Given the description of an element on the screen output the (x, y) to click on. 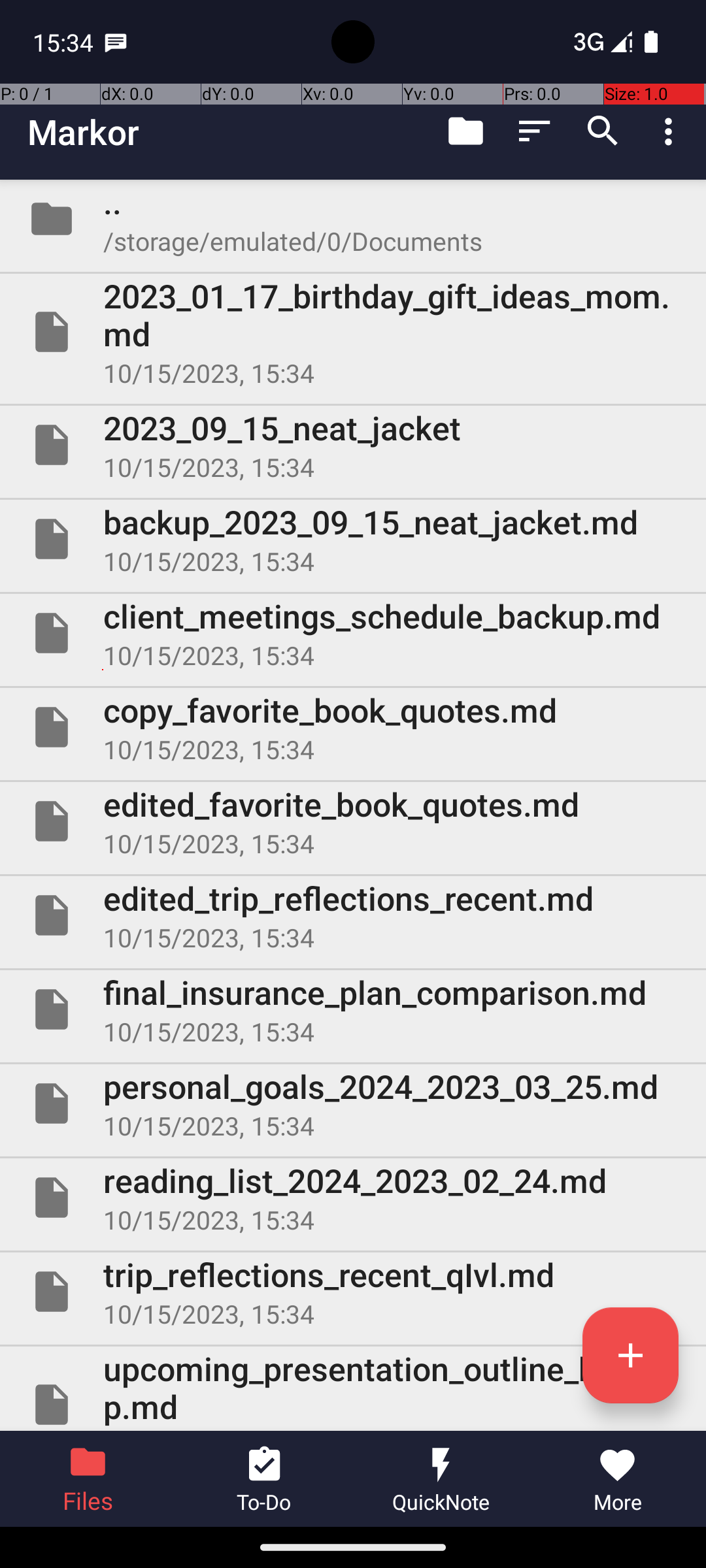
File 2023_01_17_birthday_gift_ideas_mom.md  Element type: android.widget.LinearLayout (353, 331)
File 2023_09_15_neat_jacket  Element type: android.widget.LinearLayout (353, 444)
File backup_2023_09_15_neat_jacket.md  Element type: android.widget.LinearLayout (353, 538)
File client_meetings_schedule_backup.md  Element type: android.widget.LinearLayout (353, 632)
File copy_favorite_book_quotes.md  Element type: android.widget.LinearLayout (353, 726)
File edited_favorite_book_quotes.md  Element type: android.widget.LinearLayout (353, 821)
File edited_trip_reflections_recent.md  Element type: android.widget.LinearLayout (353, 915)
File final_insurance_plan_comparison.md  Element type: android.widget.LinearLayout (353, 1009)
File personal_goals_2024_2023_03_25.md  Element type: android.widget.LinearLayout (353, 1103)
File reading_list_2024_2023_02_24.md  Element type: android.widget.LinearLayout (353, 1197)
File trip_reflections_recent_qIvl.md  Element type: android.widget.LinearLayout (353, 1291)
File upcoming_presentation_outline_backup.md  Element type: android.widget.LinearLayout (353, 1388)
